Given the description of an element on the screen output the (x, y) to click on. 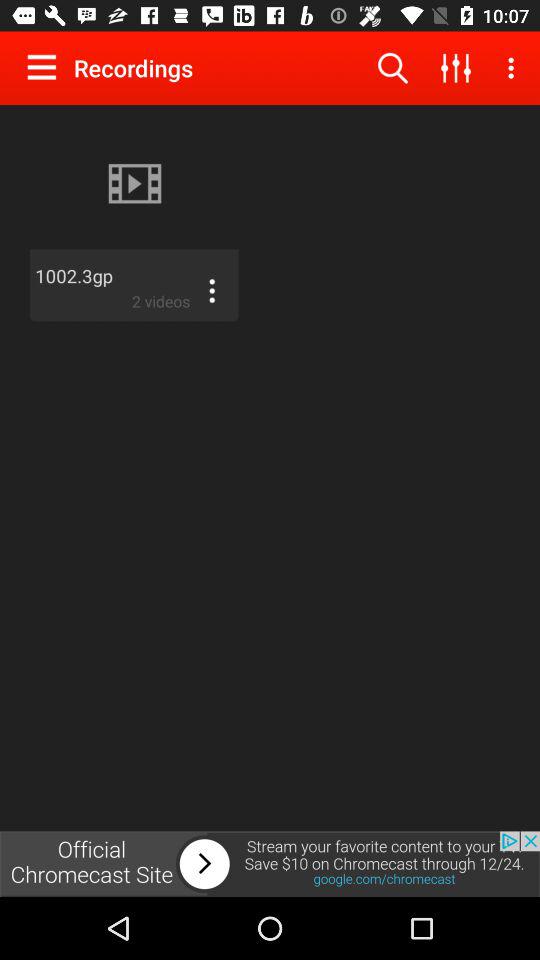
go to advertisement option (270, 864)
